Given the description of an element on the screen output the (x, y) to click on. 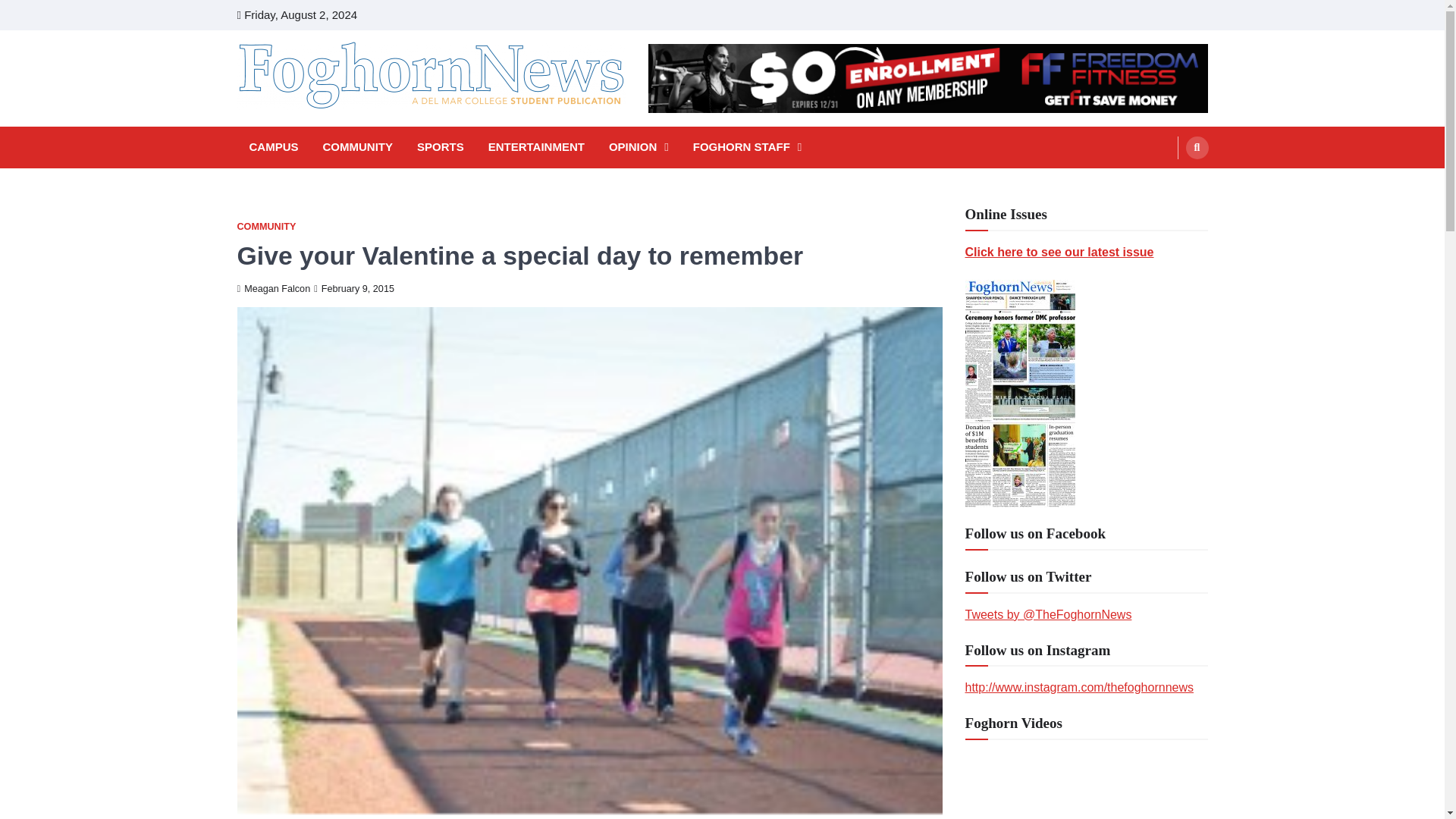
SPORTS (440, 147)
Meagan Falcon (272, 288)
Search (1168, 183)
Search (1197, 147)
FOGHORN NEWS (342, 130)
CAMPUS (273, 147)
FOGHORN STAFF (747, 147)
February 9, 2015 (354, 288)
Click here to see our latest issue (1058, 251)
COMMUNITY (357, 147)
ENTERTAINMENT (536, 147)
COMMUNITY (265, 226)
OPINION (638, 147)
